Given the description of an element on the screen output the (x, y) to click on. 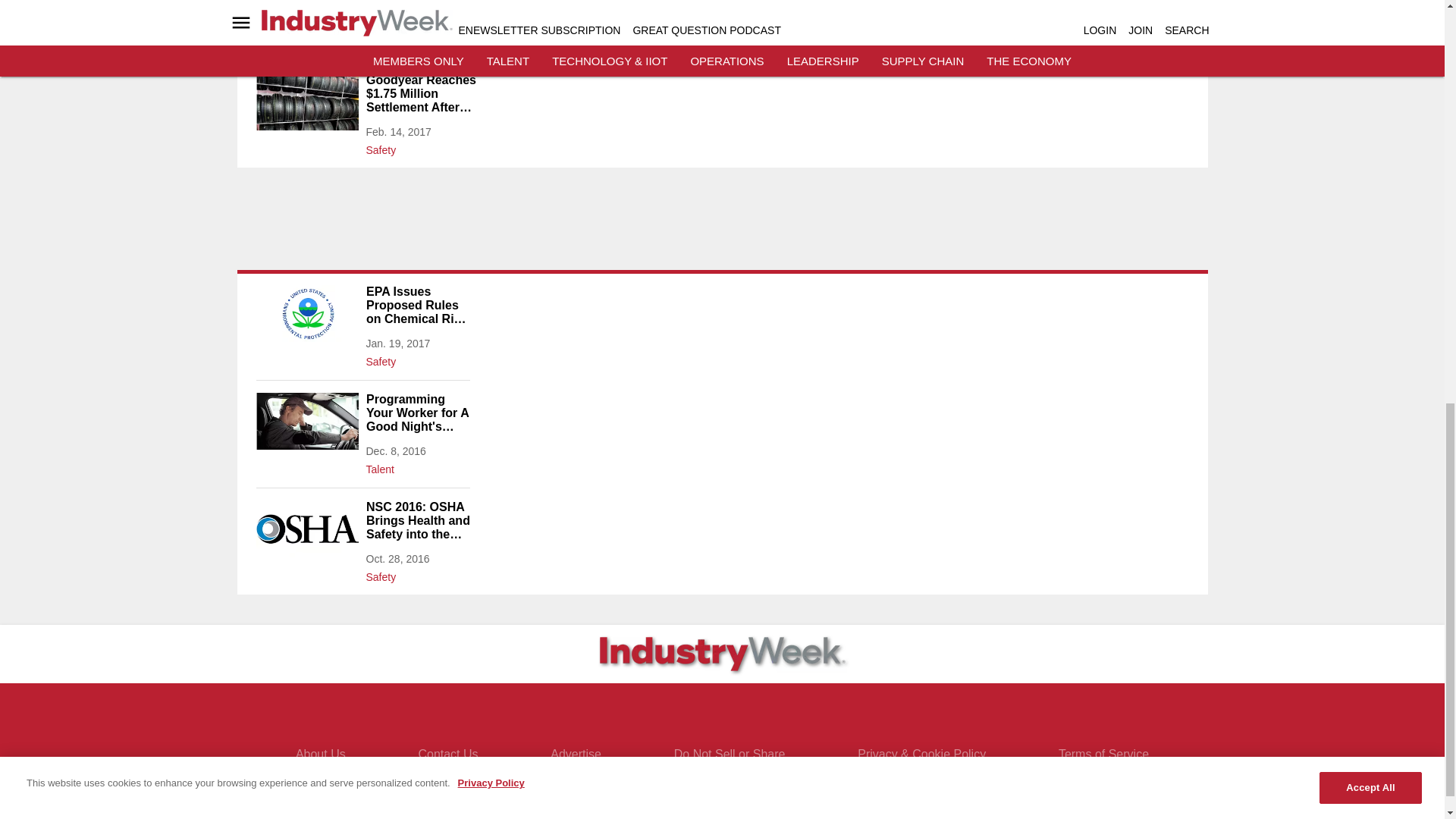
Image (307, 11)
3rd party ad content (721, 224)
Image (307, 101)
Image (307, 313)
Image (307, 528)
Image (307, 421)
